Given the description of an element on the screen output the (x, y) to click on. 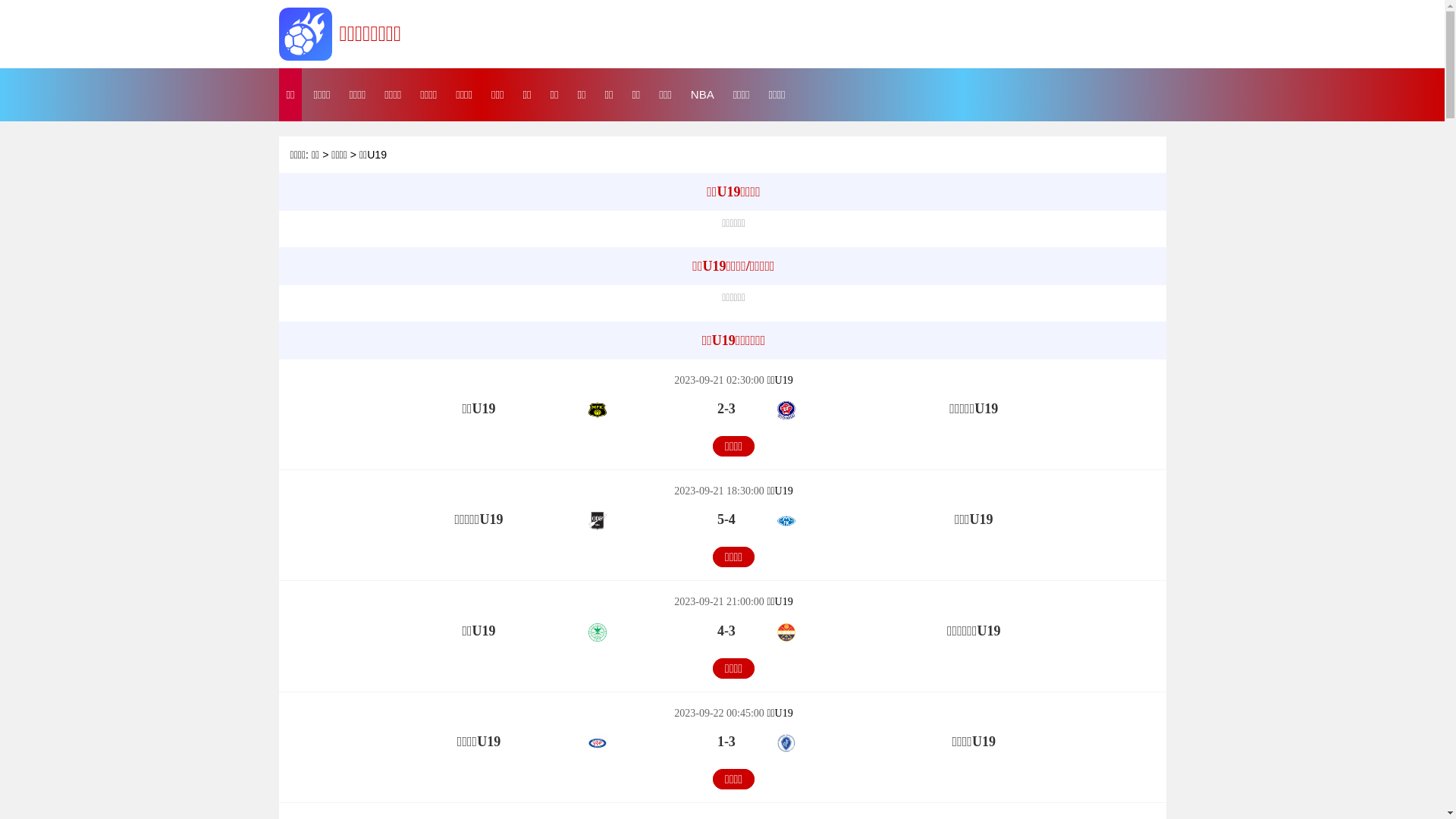
NBA Element type: text (702, 94)
